Given the description of an element on the screen output the (x, y) to click on. 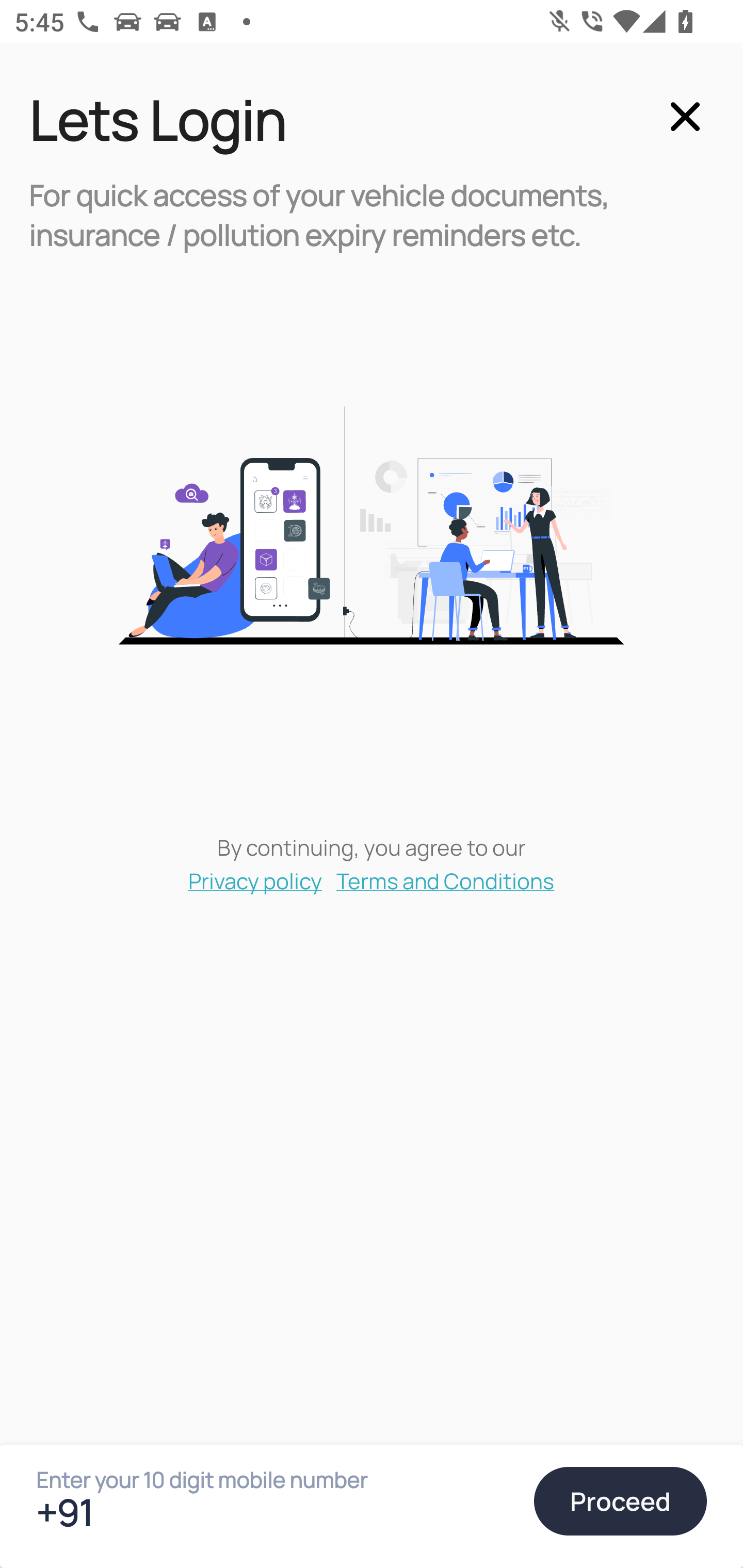
Privacy policy (254, 880)
Terms and Conditions (445, 880)
Proceed (620, 1501)
Enter your 10 digit mobile number (275, 1512)
